Given the description of an element on the screen output the (x, y) to click on. 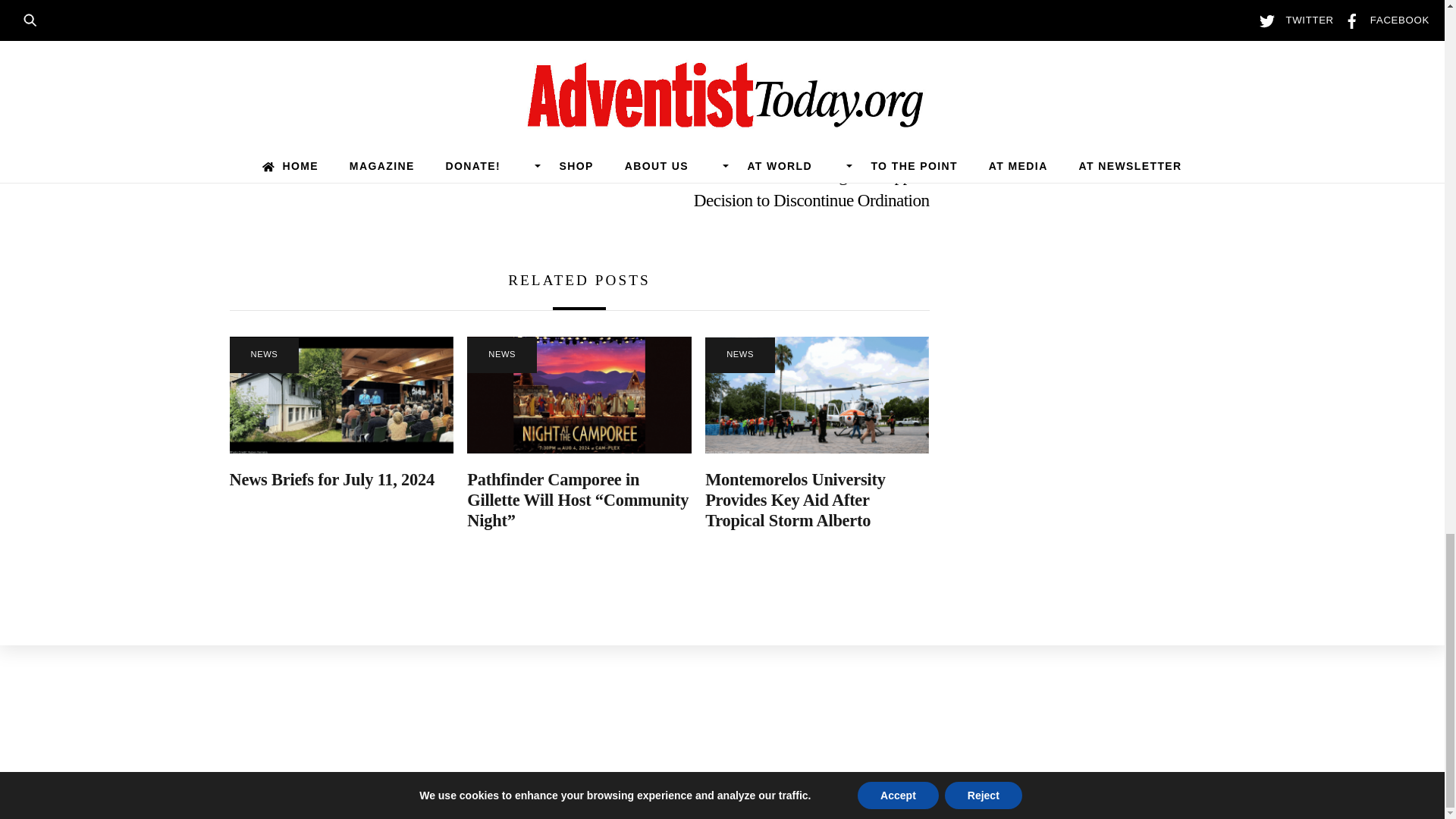
07.11.24 News Briefs (340, 395)
News Briefs for July 11, 2024 (330, 479)
Mindfulness (392, 174)
07.10.24 Night at the Camporee (578, 395)
07.09.24 Montemorelos Helps After Alberto (816, 395)
NEWS (263, 355)
To comment, click here. (324, 55)
